Given the description of an element on the screen output the (x, y) to click on. 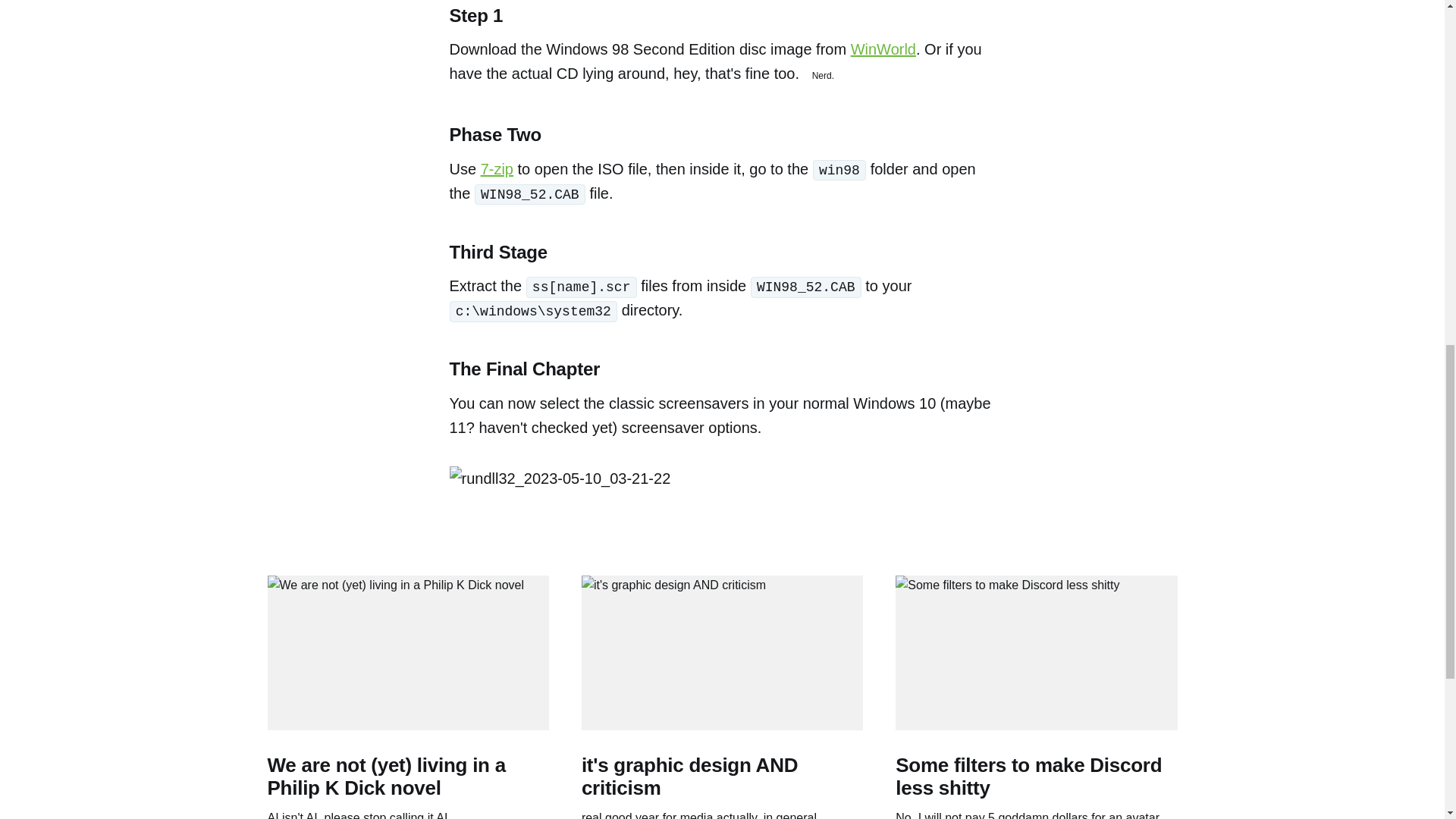
7-zip (496, 168)
WinWorld (882, 48)
